Given the description of an element on the screen output the (x, y) to click on. 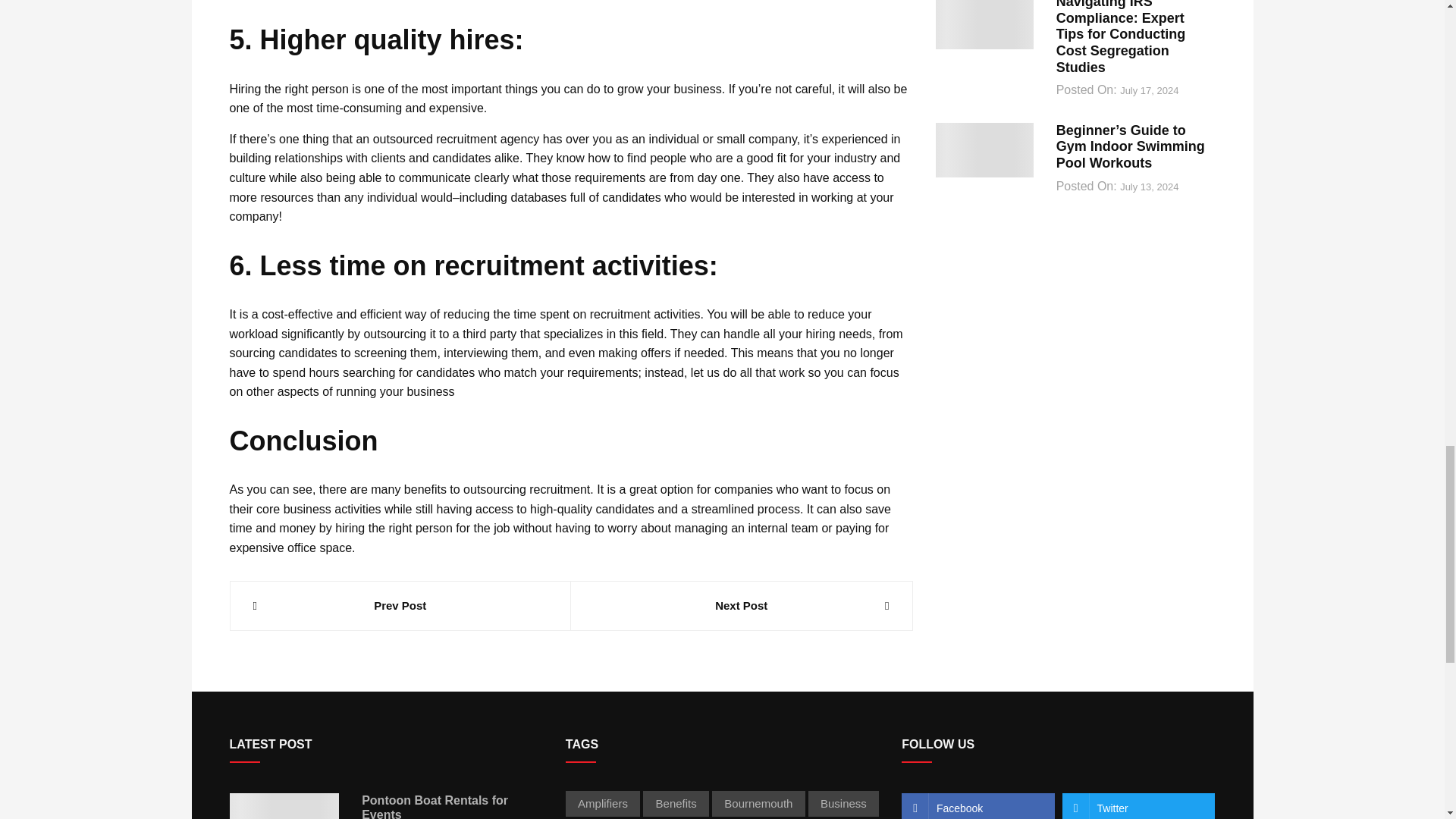
Prev Post (400, 606)
Next Post (741, 606)
